Given the description of an element on the screen output the (x, y) to click on. 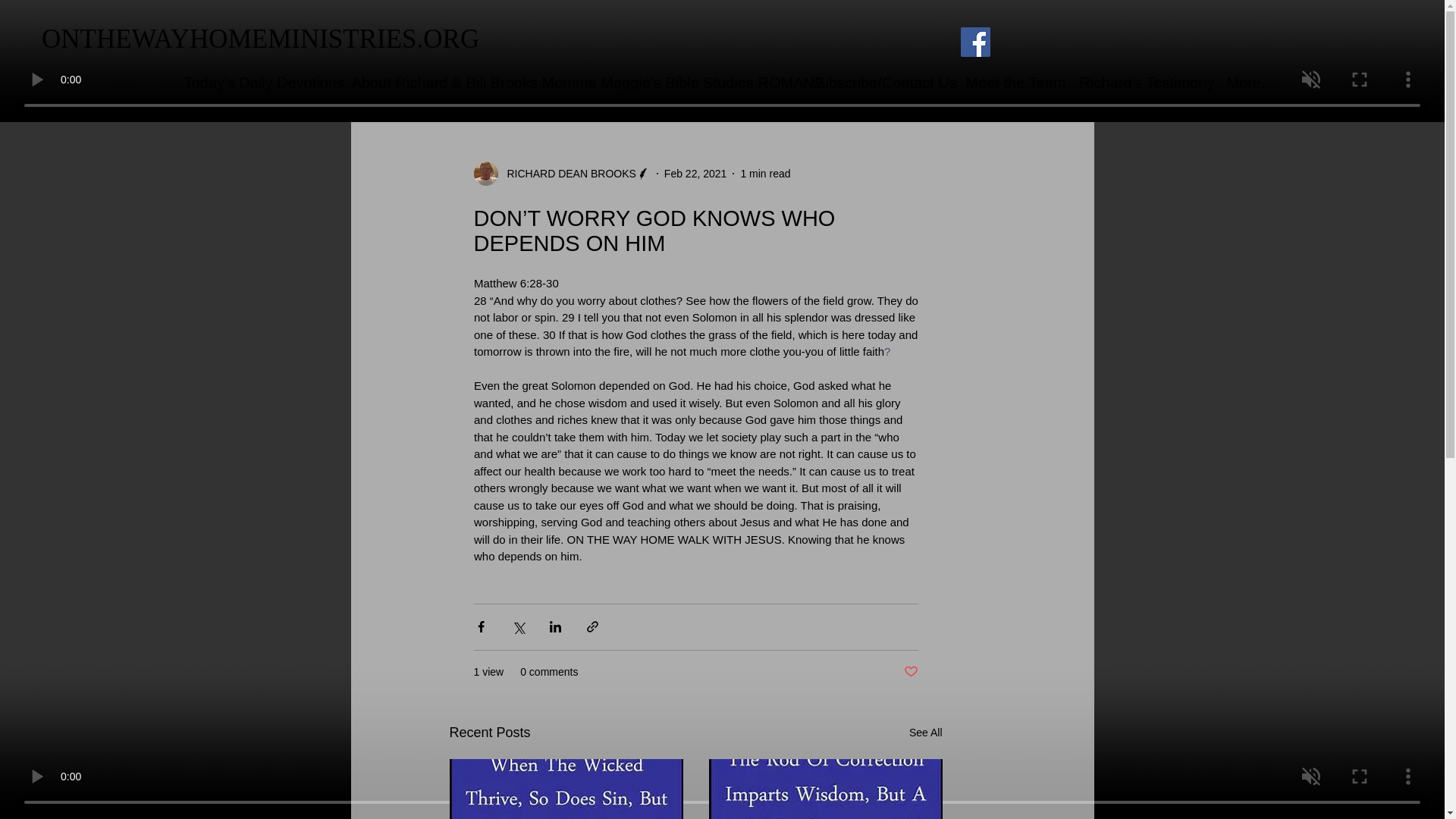
Today's Daily Devotions (256, 82)
1 min read (764, 173)
Feb 22, 2021 (694, 173)
Richard's Testimony (1140, 82)
Post not marked as liked (911, 672)
See All (925, 732)
RICHARD DEAN BROOKS (565, 172)
Meet the Team (1010, 82)
Momma Maggie's Bible Studies ROMANS (665, 82)
ONTHEWAYHOMEMINISTRIES.ORG (260, 39)
